Given the description of an element on the screen output the (x, y) to click on. 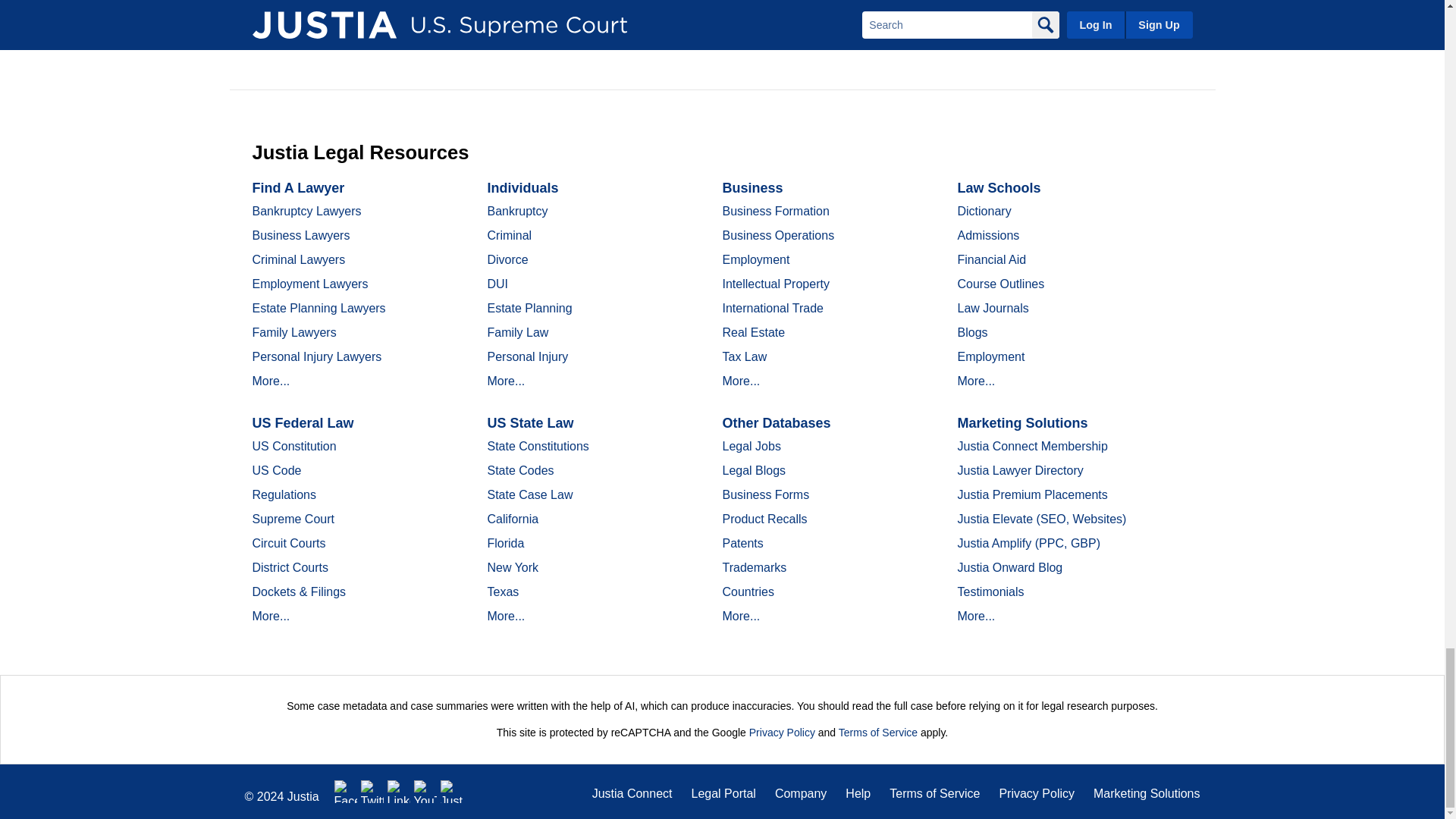
YouTube (424, 791)
Twitter (372, 791)
LinkedIn (398, 791)
Justia Lawyer Directory (452, 791)
Facebook (345, 791)
